Given the description of an element on the screen output the (x, y) to click on. 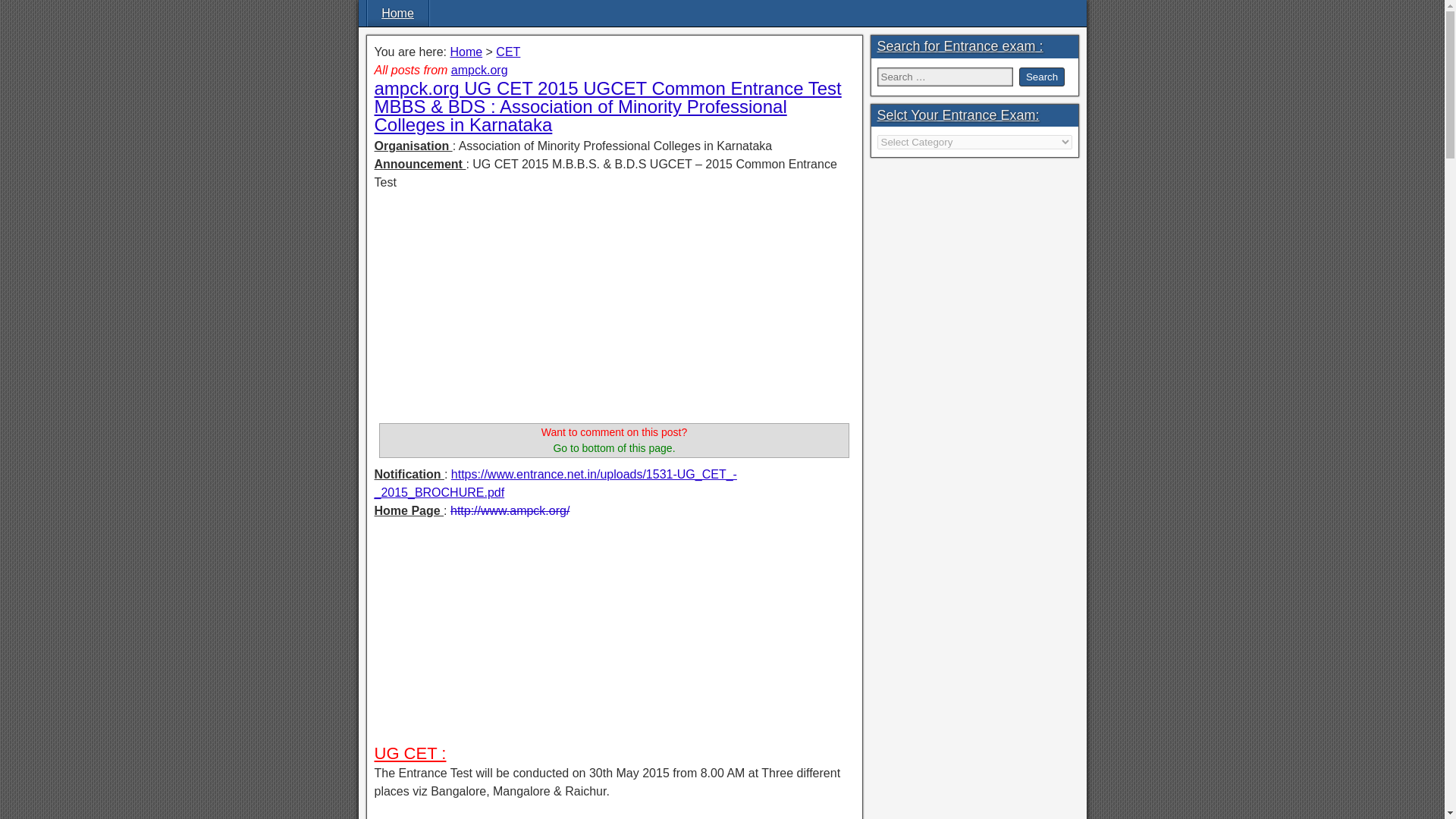
Advertisement (614, 309)
Home (465, 51)
ampck.org (479, 69)
Home (397, 13)
CET (507, 51)
Search (1041, 76)
Search (1041, 76)
Search (1041, 76)
Advertisement (614, 637)
CET (507, 51)
